Given the description of an element on the screen output the (x, y) to click on. 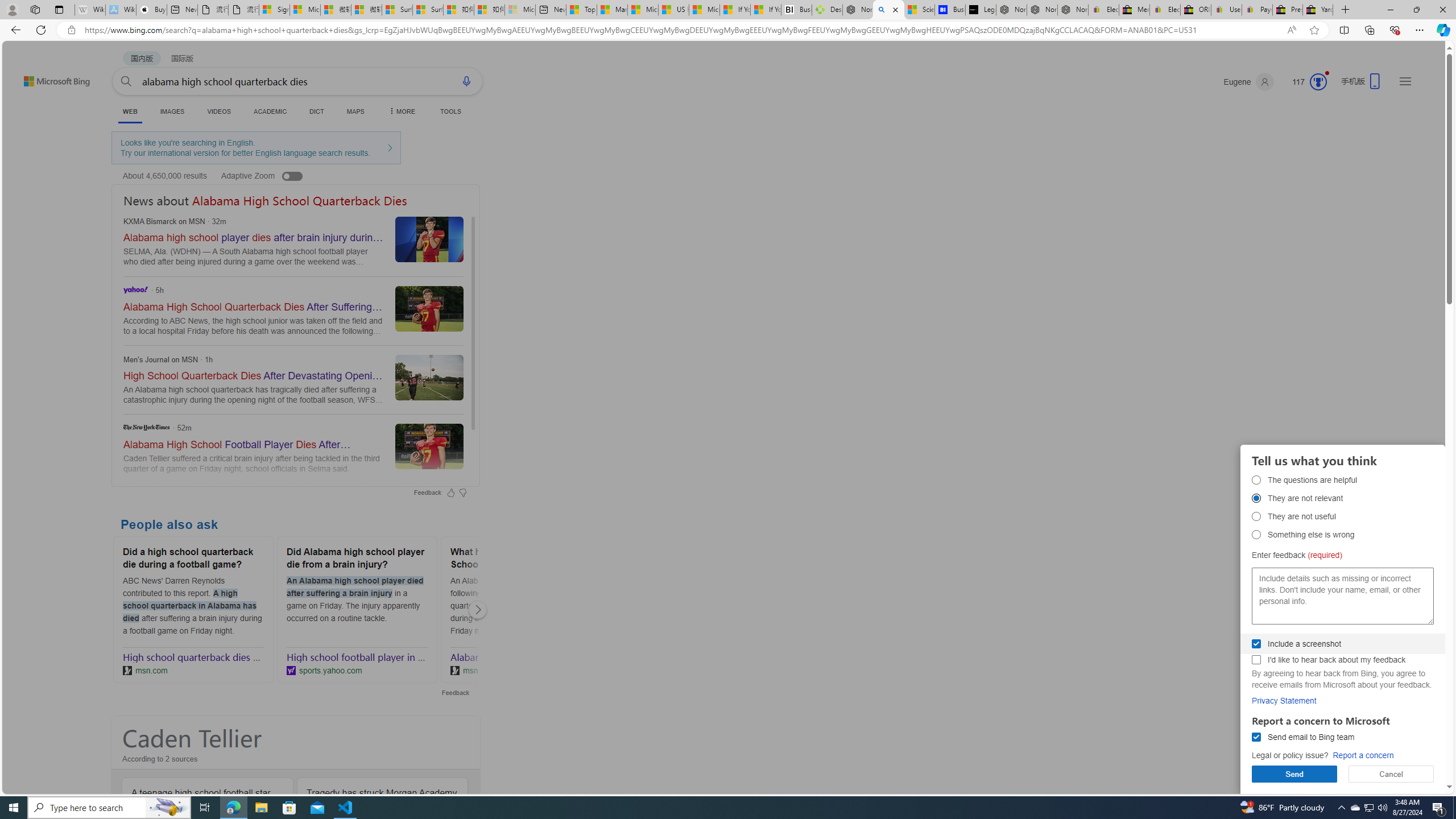
Microsoft account | Account Checkup - Sleeping (519, 9)
AutomationID: fbpgdgnothelp (1256, 515)
Privacy Statement (1284, 700)
Include a screenshot Include a screenshot (1256, 643)
alabama high school quarterback dies - Search (887, 9)
They are not relevant They are not relevant (1256, 497)
AutomationID: fbpgdgsat (1256, 479)
